Given the description of an element on the screen output the (x, y) to click on. 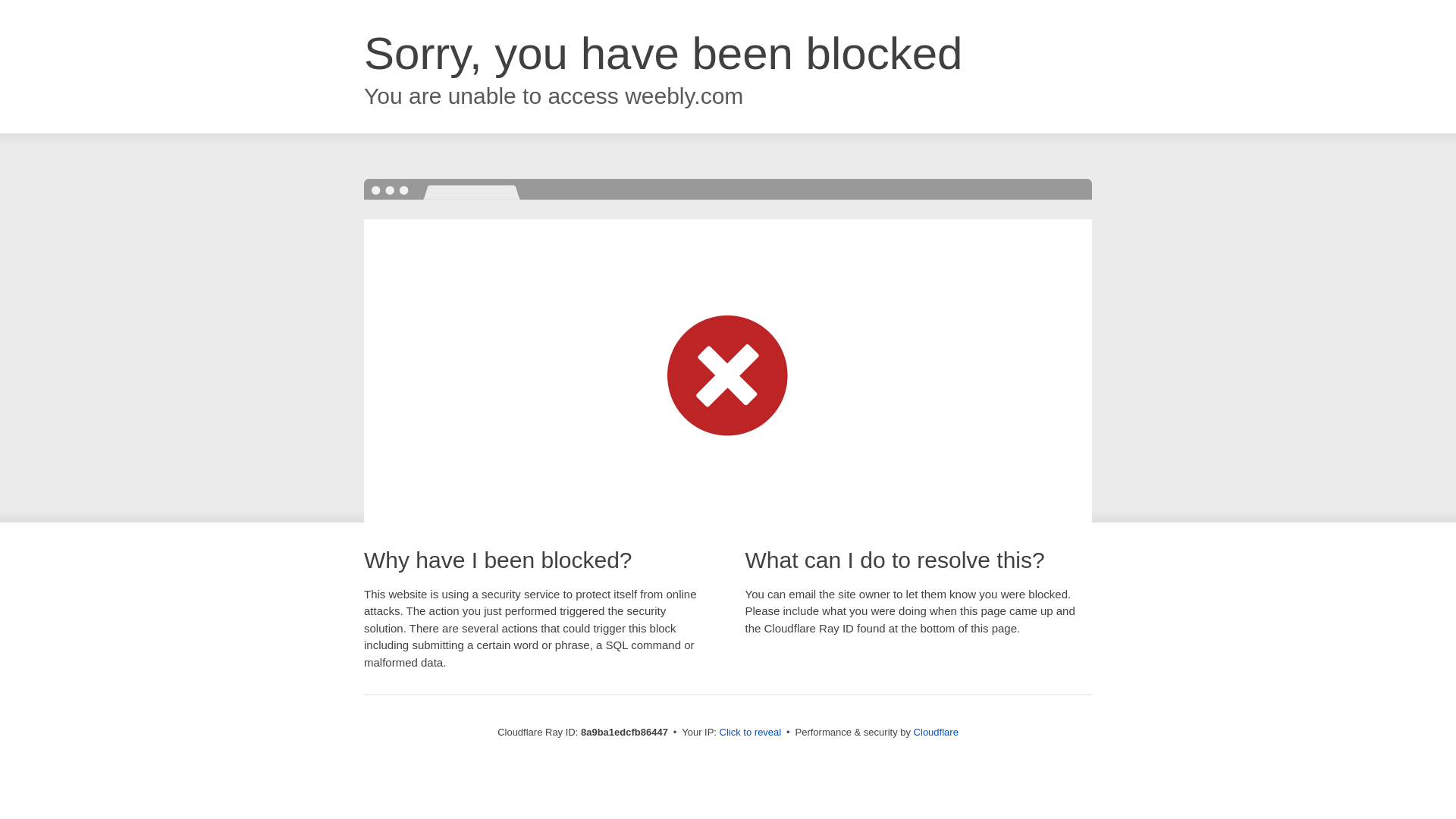
Cloudflare (936, 731)
Click to reveal (750, 732)
